Given the description of an element on the screen output the (x, y) to click on. 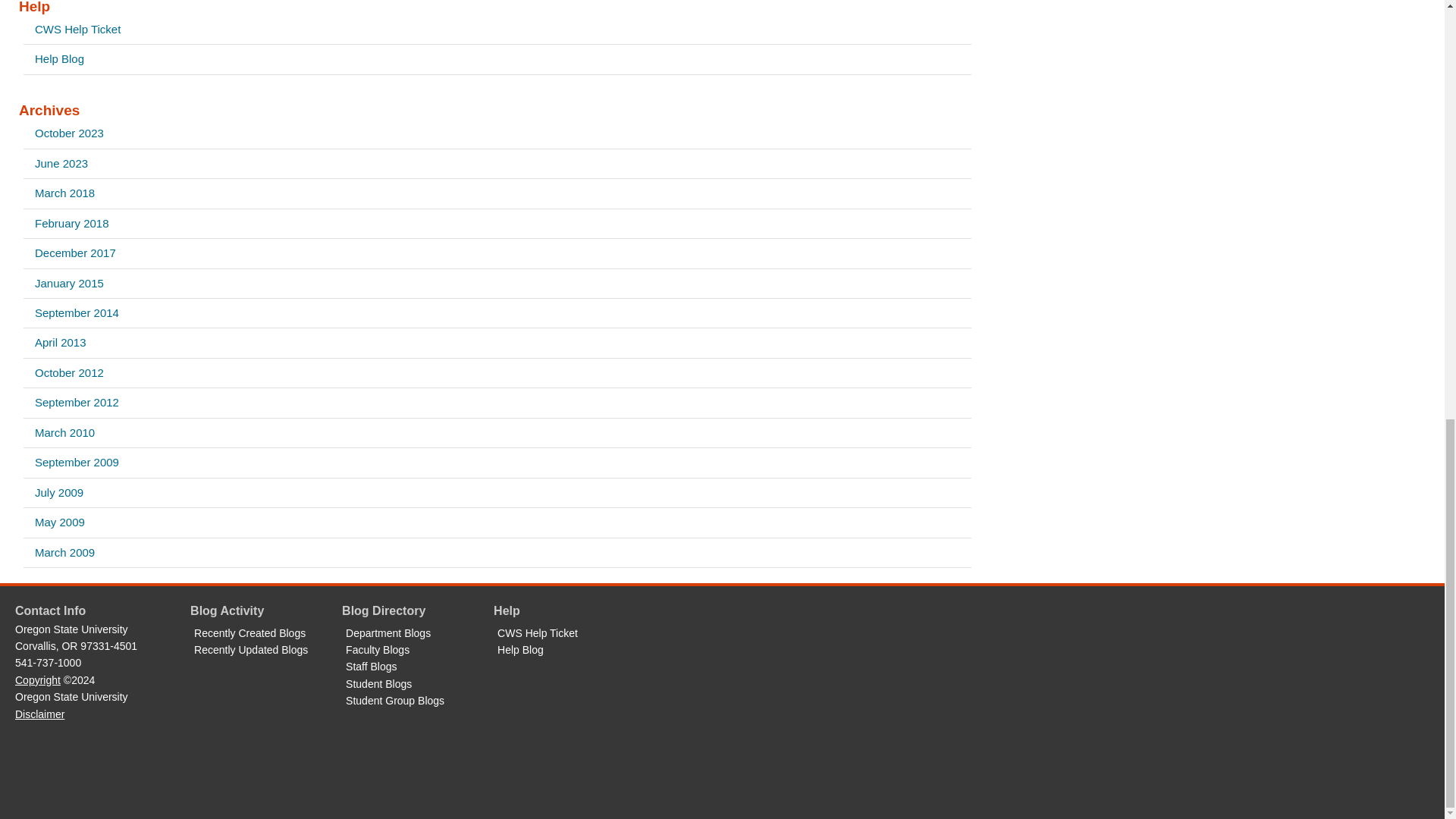
April 2013 (497, 342)
Disclaimer (39, 714)
February 2018 (497, 223)
March 2018 (497, 193)
March 2009 (497, 552)
CWS Help Ticket (497, 29)
September 2014 (497, 312)
January 2015 (497, 283)
June 2023 (497, 163)
July 2009 (497, 492)
December 2017 (497, 253)
May 2009 (497, 522)
September 2009 (497, 461)
September 2012 (497, 402)
October 2012 (497, 372)
